Given the description of an element on the screen output the (x, y) to click on. 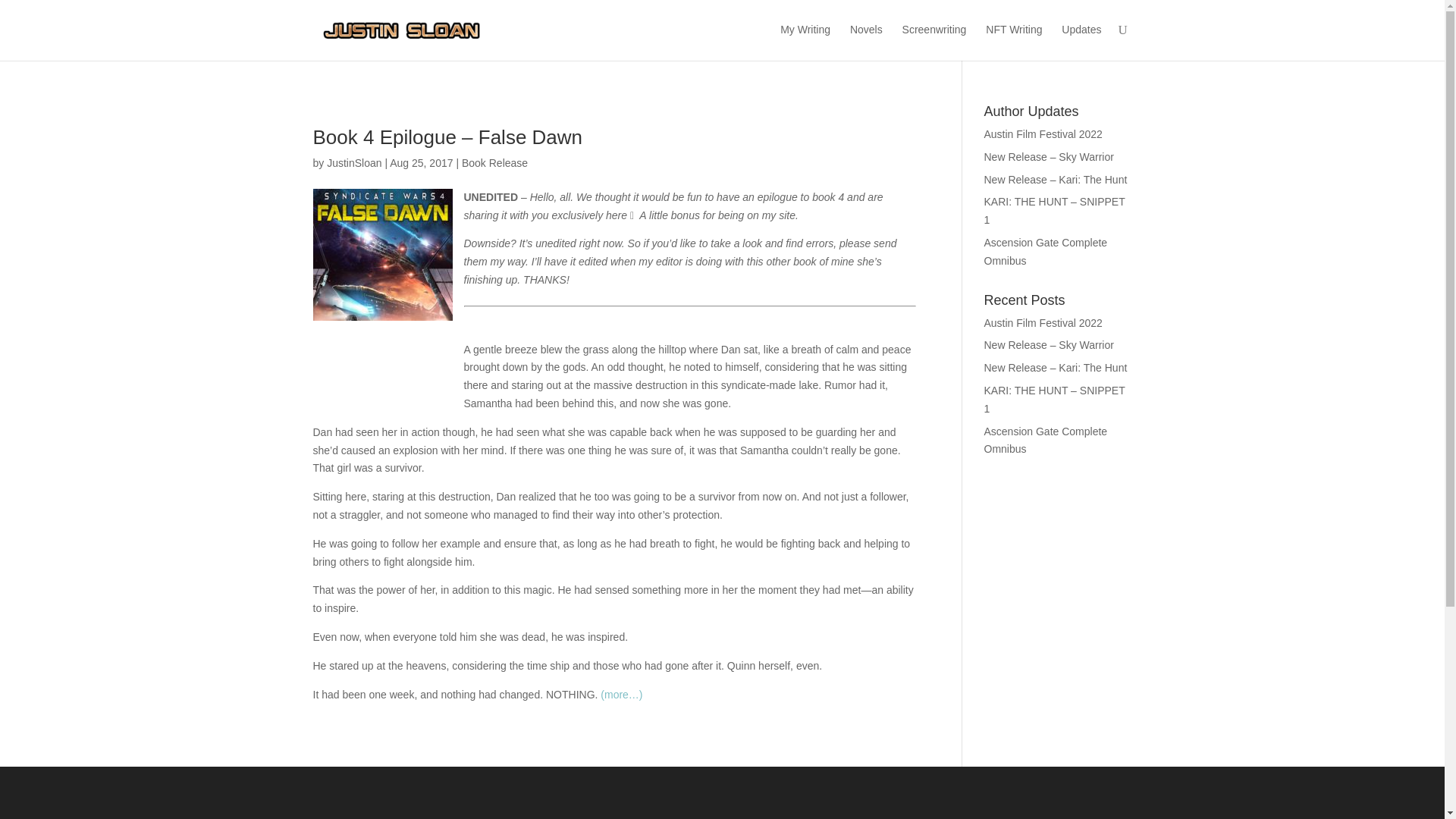
My Writing (804, 40)
Ascension Gate Complete Omnibus (1046, 251)
Ascension Gate Complete Omnibus (1046, 440)
Book Release (494, 162)
Posts by JustinSloan (353, 162)
Screenwriting (934, 40)
Austin Film Festival 2022 (1043, 133)
JustinSloan (353, 162)
NFT Writing (1013, 40)
Austin Film Festival 2022 (1043, 322)
